Given the description of an element on the screen output the (x, y) to click on. 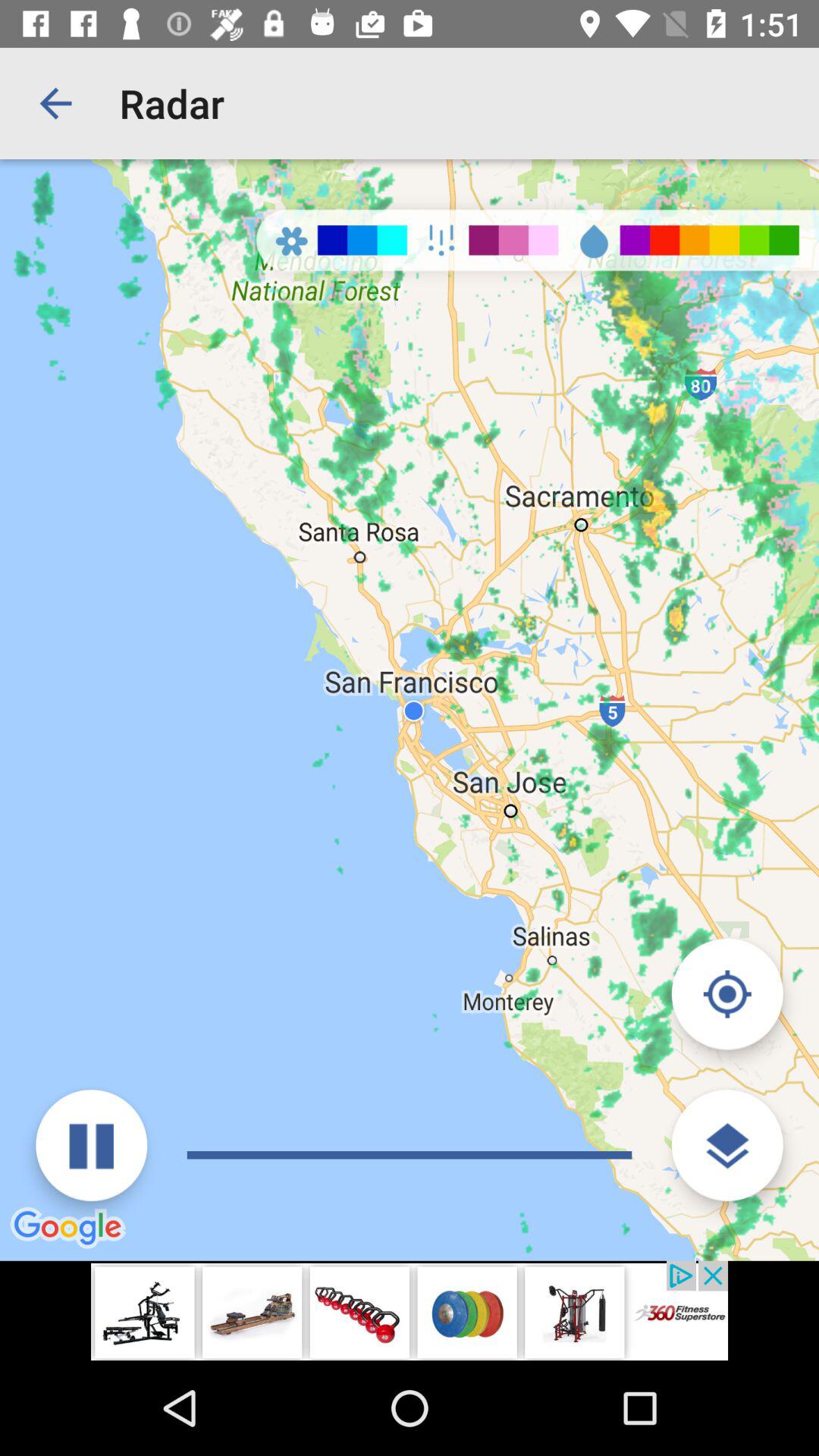
show map (727, 1145)
